Given the description of an element on the screen output the (x, y) to click on. 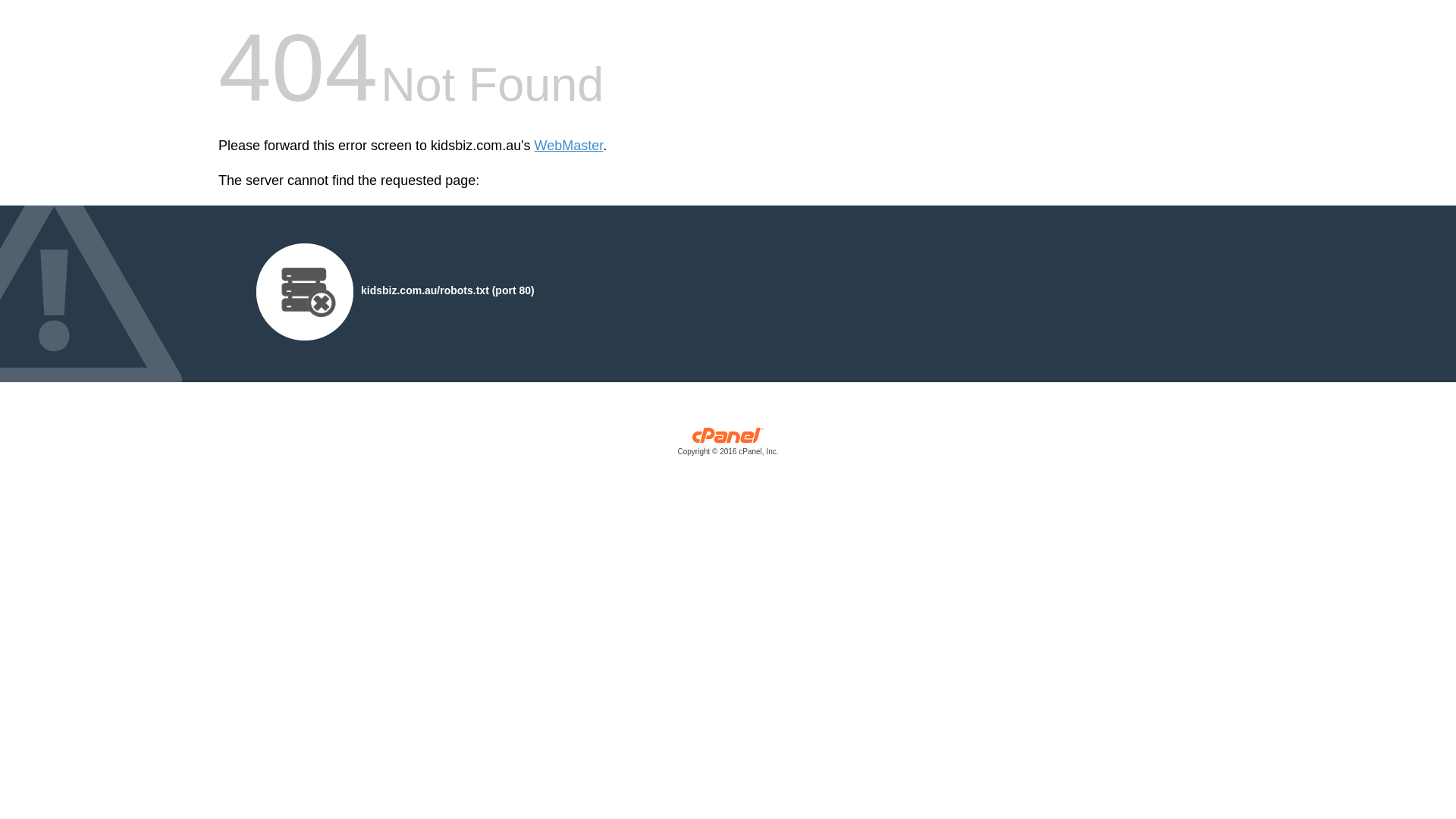
WebMaster Element type: text (568, 145)
